Given the description of an element on the screen output the (x, y) to click on. 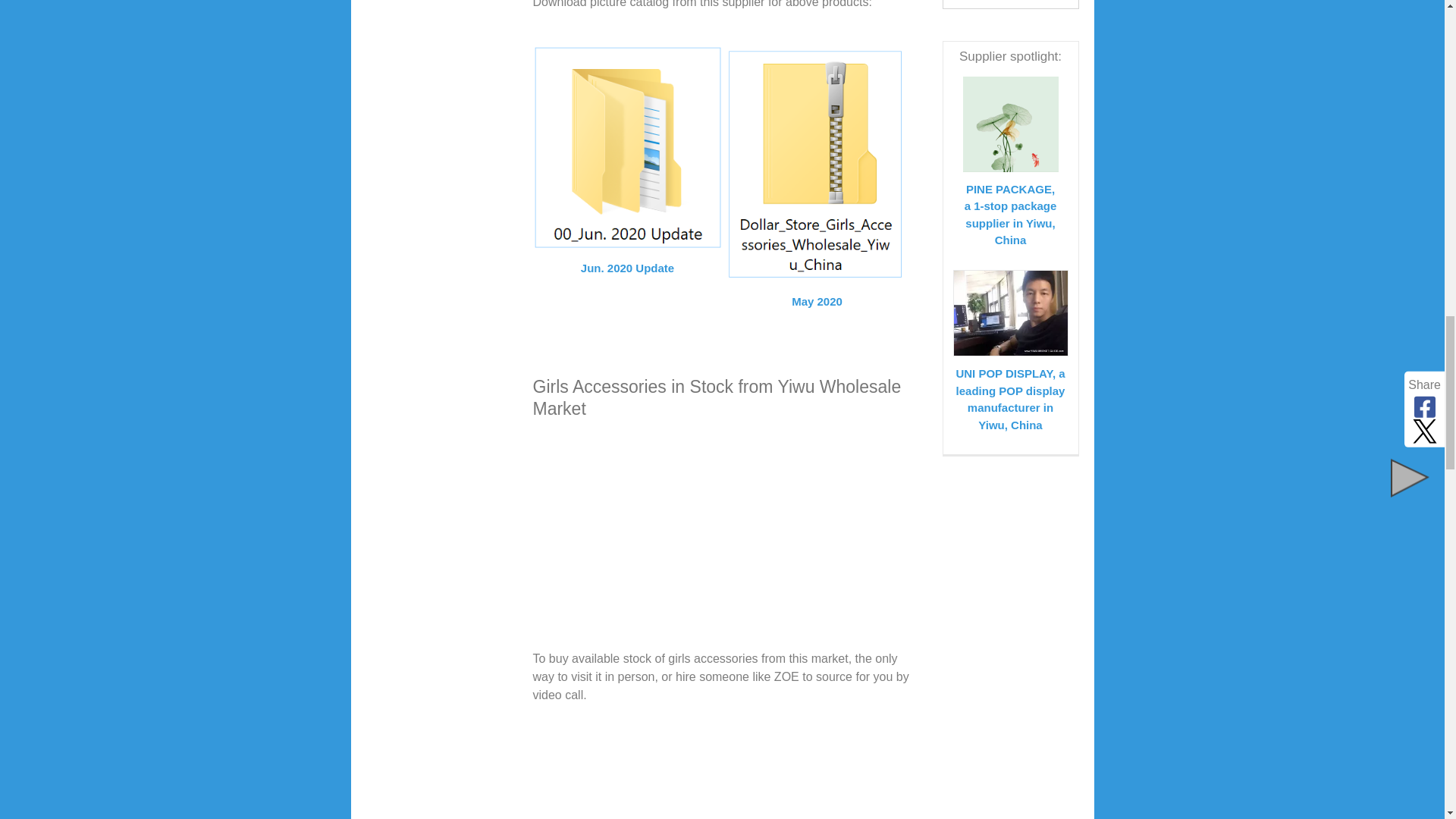
May 2020 (816, 291)
Pine Package (1010, 123)
Jun. 2020 Update (627, 258)
